Given the description of an element on the screen output the (x, y) to click on. 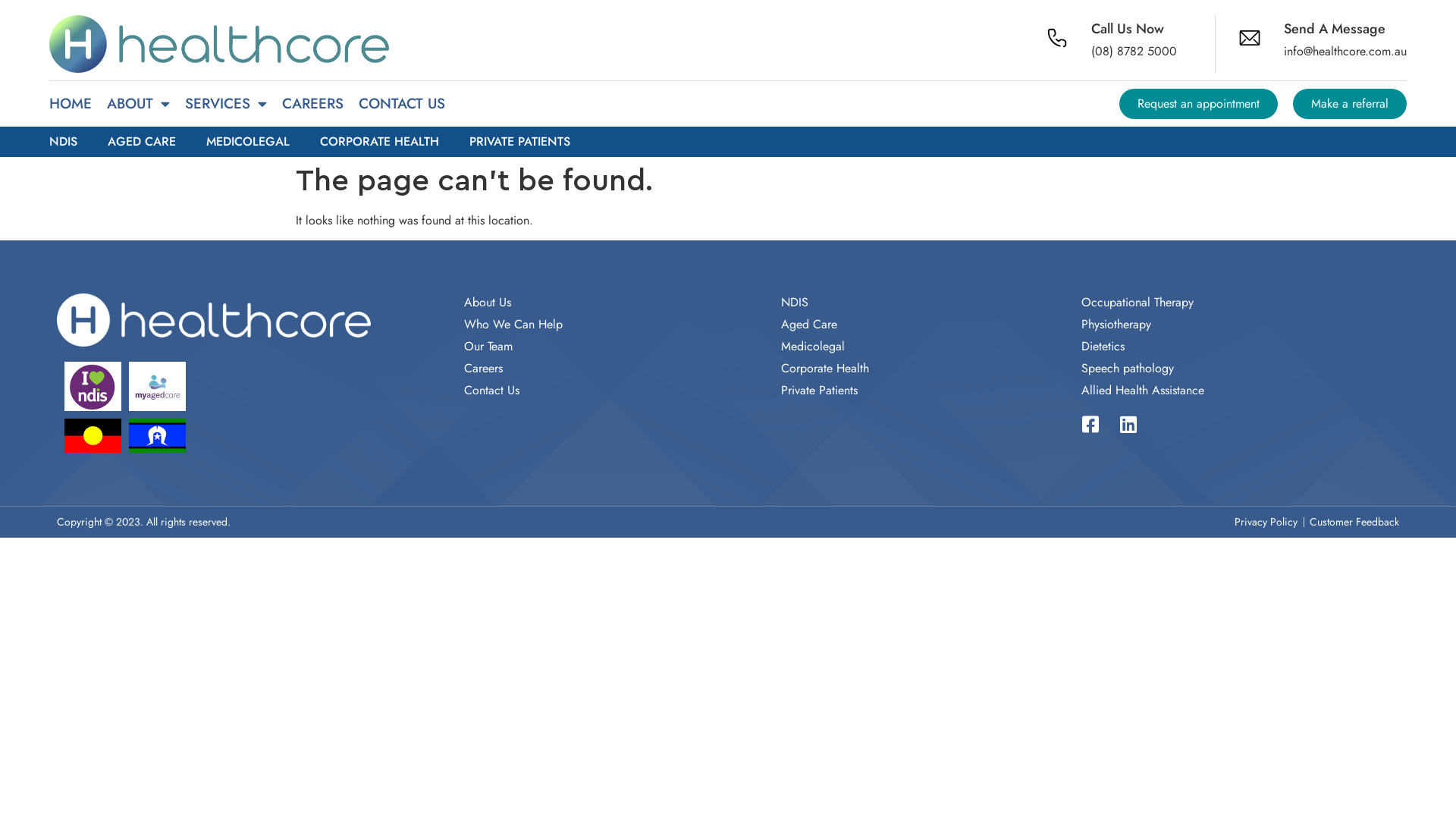
Send A Message Element type: text (1334, 28)
Our Team Element type: text (488, 346)
Make a referral Element type: text (1349, 103)
Request an appointment Element type: text (1198, 103)
Contact Us Element type: text (491, 390)
About Us Element type: text (487, 302)
Allied Health Assistance Element type: text (1142, 390)
HOME Element type: text (70, 103)
Careers Element type: text (483, 368)
Corporate Health Element type: text (825, 368)
Speech pathology Element type: text (1127, 368)
SERVICES Element type: text (225, 103)
Occupational Therapy Element type: text (1137, 302)
PRIVATE PATIENTS Element type: text (519, 141)
Customer Feedback Element type: text (1354, 522)
MEDICOLEGAL Element type: text (247, 141)
AGED CARE Element type: text (141, 141)
NDIS Element type: text (794, 302)
NDIS Element type: text (63, 141)
ABOUT Element type: text (137, 103)
Physiotherapy Element type: text (1116, 324)
Call Us Now Element type: text (1127, 28)
Who We Can Help Element type: text (513, 324)
Private Patients Element type: text (819, 390)
Dietetics Element type: text (1102, 346)
Aged Care Element type: text (809, 324)
CORPORATE HEALTH Element type: text (379, 141)
CAREERS Element type: text (312, 103)
CONTACT US Element type: text (401, 103)
